Given the description of an element on the screen output the (x, y) to click on. 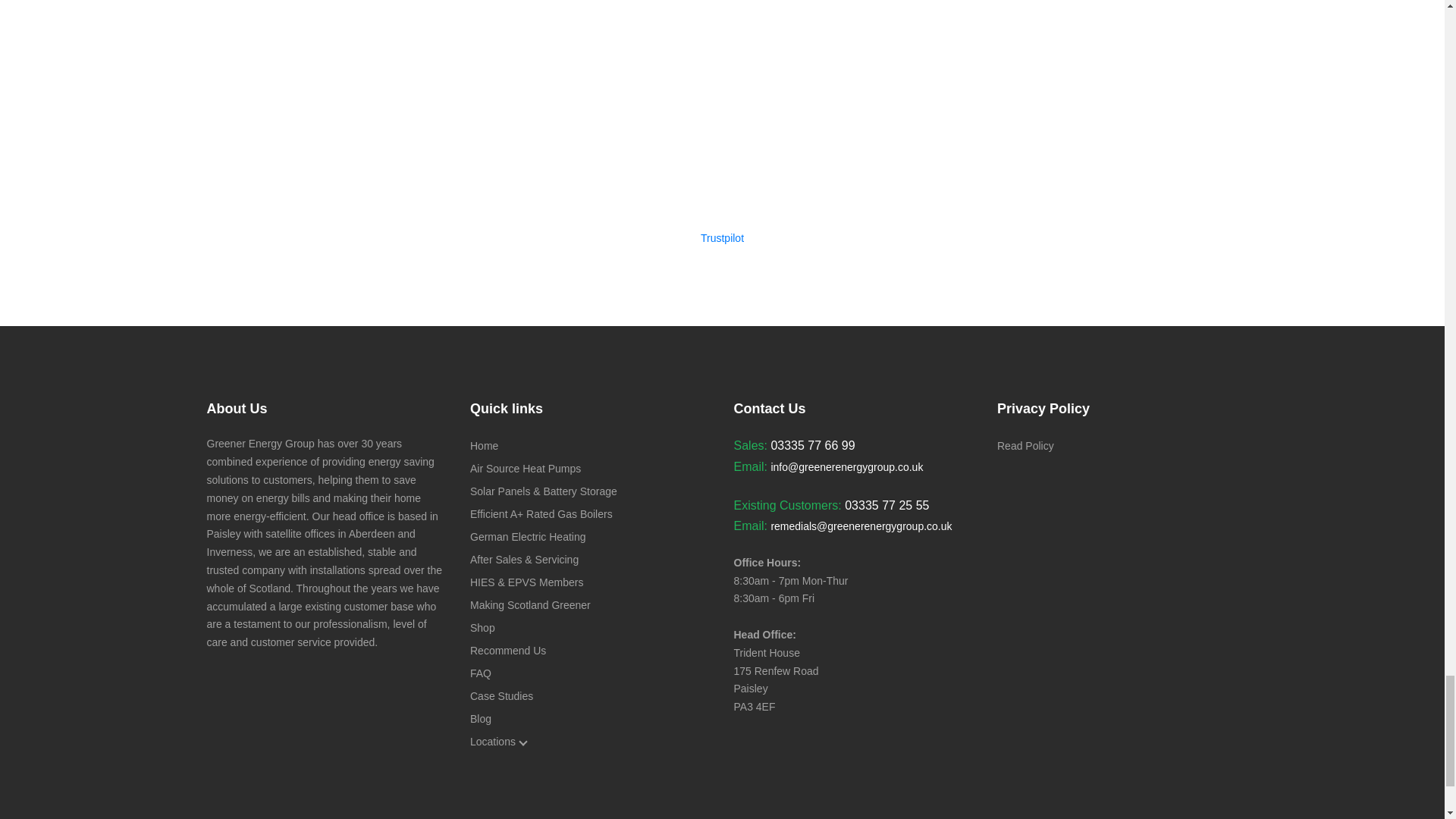
Home (483, 445)
German Electric Heating (528, 536)
Trustpilot (722, 237)
Air Source Heat Pumps (525, 468)
